Given the description of an element on the screen output the (x, y) to click on. 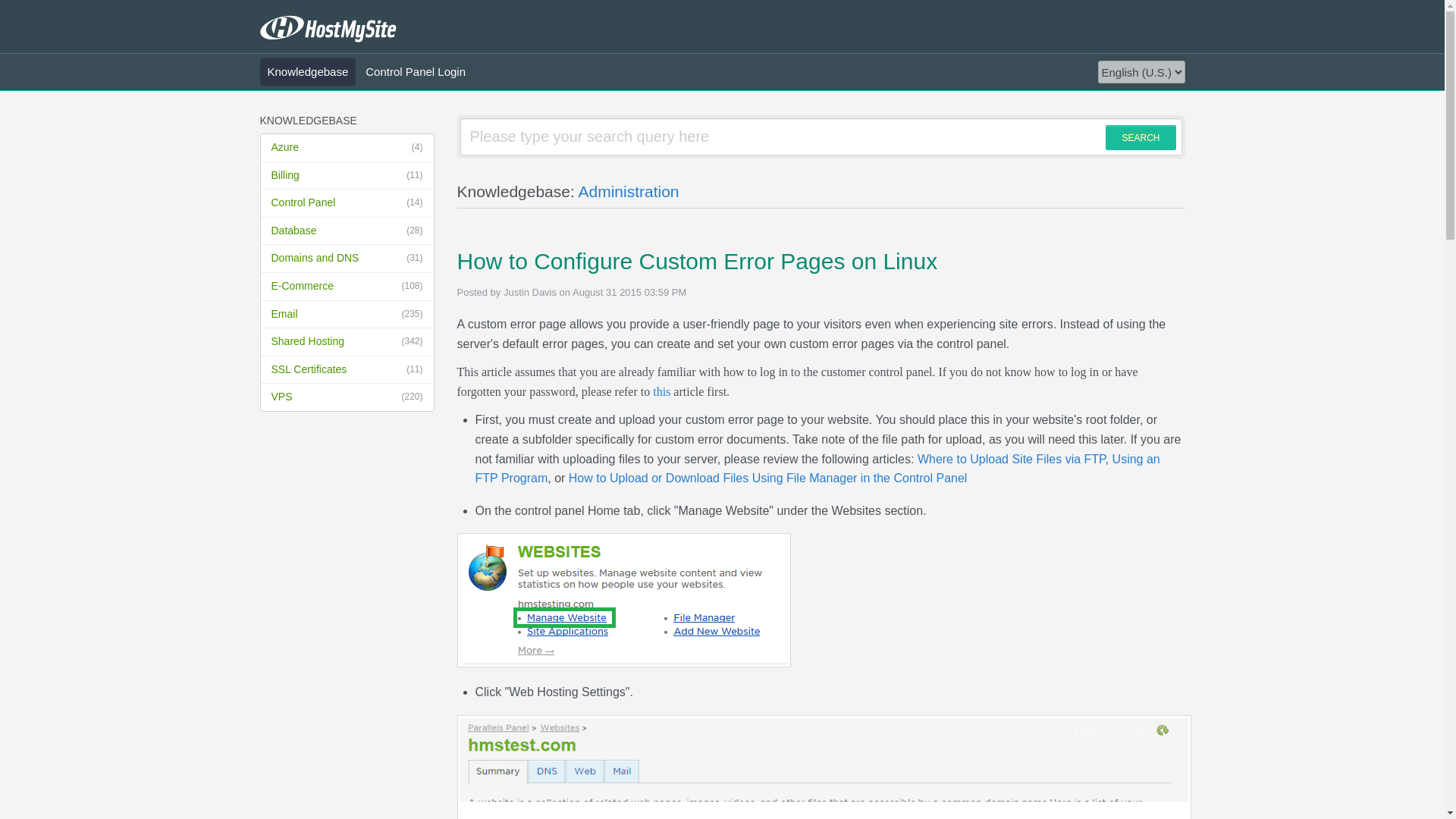
Login (403, 296)
Please type your search query here (820, 136)
Administration (628, 190)
this (660, 391)
Where to Upload Site Files via FTP (1011, 459)
SEARCH (1139, 137)
Please type your search query here (820, 136)
Control Panel Login (415, 71)
Using an FTP Program (816, 468)
